Given the description of an element on the screen output the (x, y) to click on. 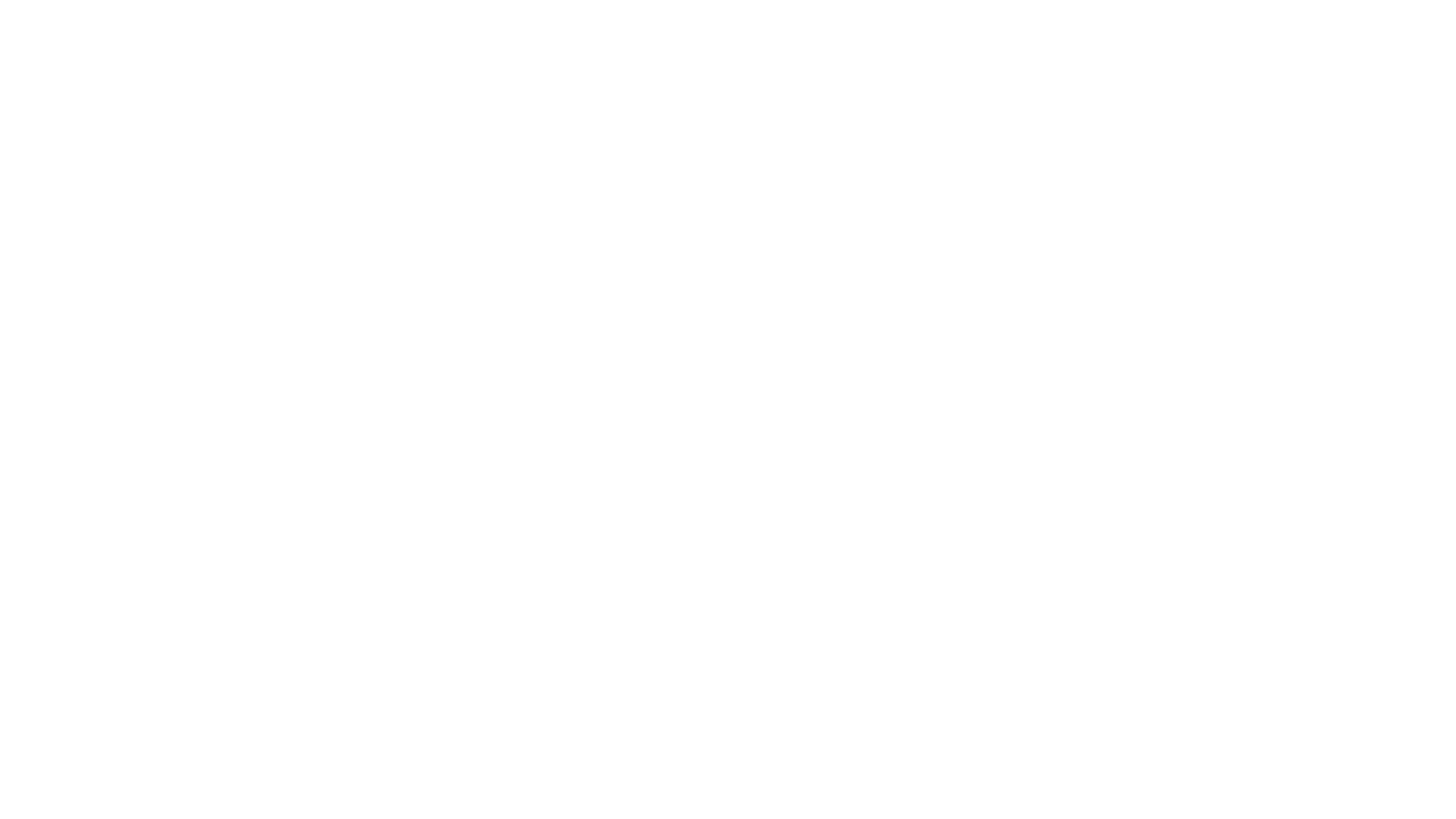
GALERIE Element type: text (1051, 70)
Sitemap Element type: text (1120, 619)
Skype Element type: hover (341, 15)
Home Element type: text (881, 619)
KONTAKT Element type: text (889, 70)
LKW an Tankanlage Element type: hover (424, 181)
HOME Element type: text (625, 70)
PRODUKTE Element type: text (971, 70)
Karte und Kontaktformular Element type: text (1048, 395)
info@coluag.ch Element type: text (949, 15)
VIDEO Element type: text (1117, 70)
AGB Element type: text (1015, 619)
AV ATELIER Sommerhalder Element type: text (458, 619)
Facebook Element type: hover (310, 15)
Impressum Element type: text (1063, 619)
Kontakt Element type: text (975, 619)
tankanlagen Element type: text (899, 275)
